Given the description of an element on the screen output the (x, y) to click on. 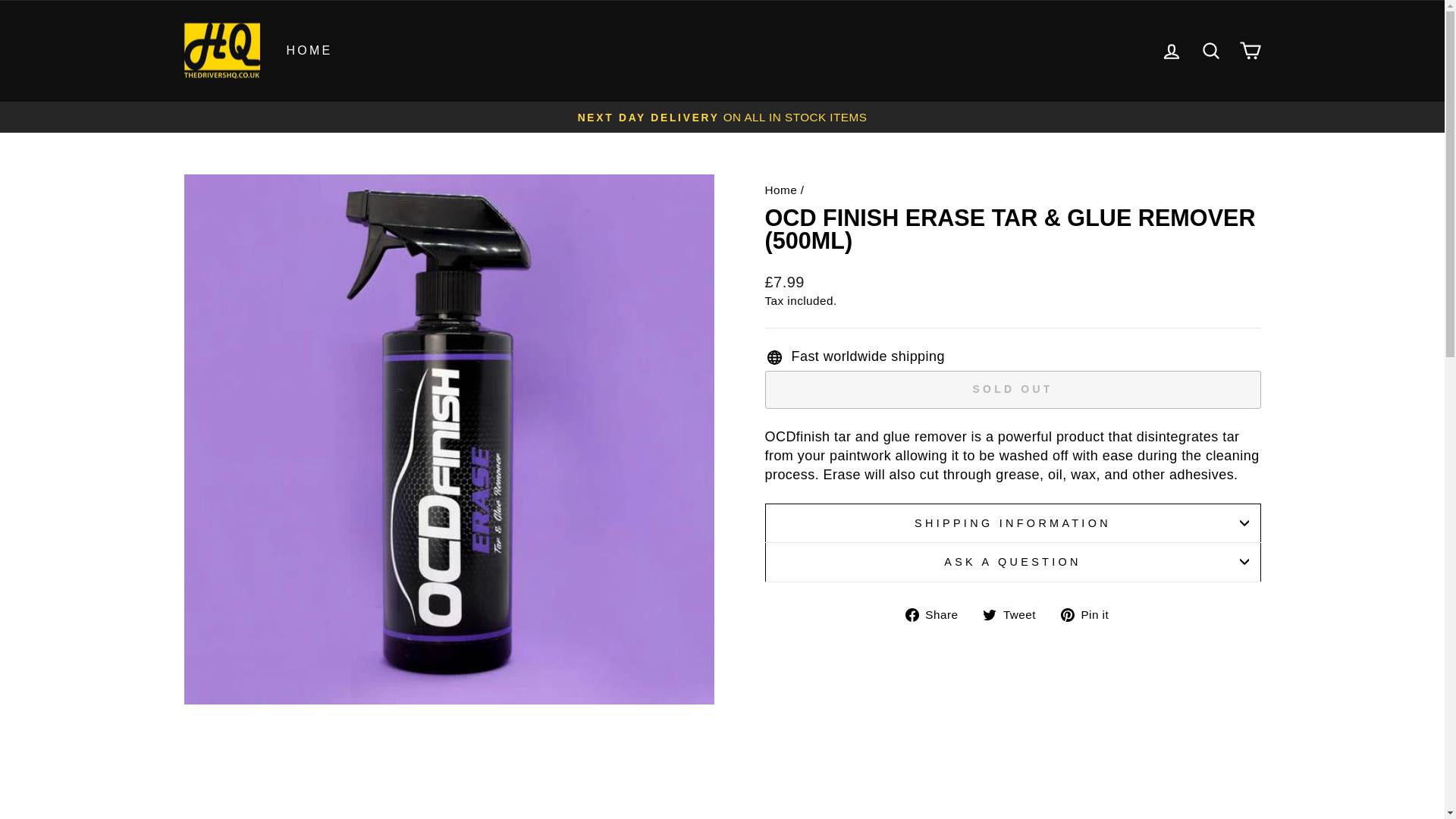
SHIPPING INFORMATION (1090, 614)
ACCOUNT (1012, 522)
Pin on Pinterest (1170, 51)
twitter (1090, 614)
ICON-SEARCH (988, 614)
Home (1210, 50)
Back to the frontpage (1210, 51)
SOLD OUT (780, 189)
